Given the description of an element on the screen output the (x, y) to click on. 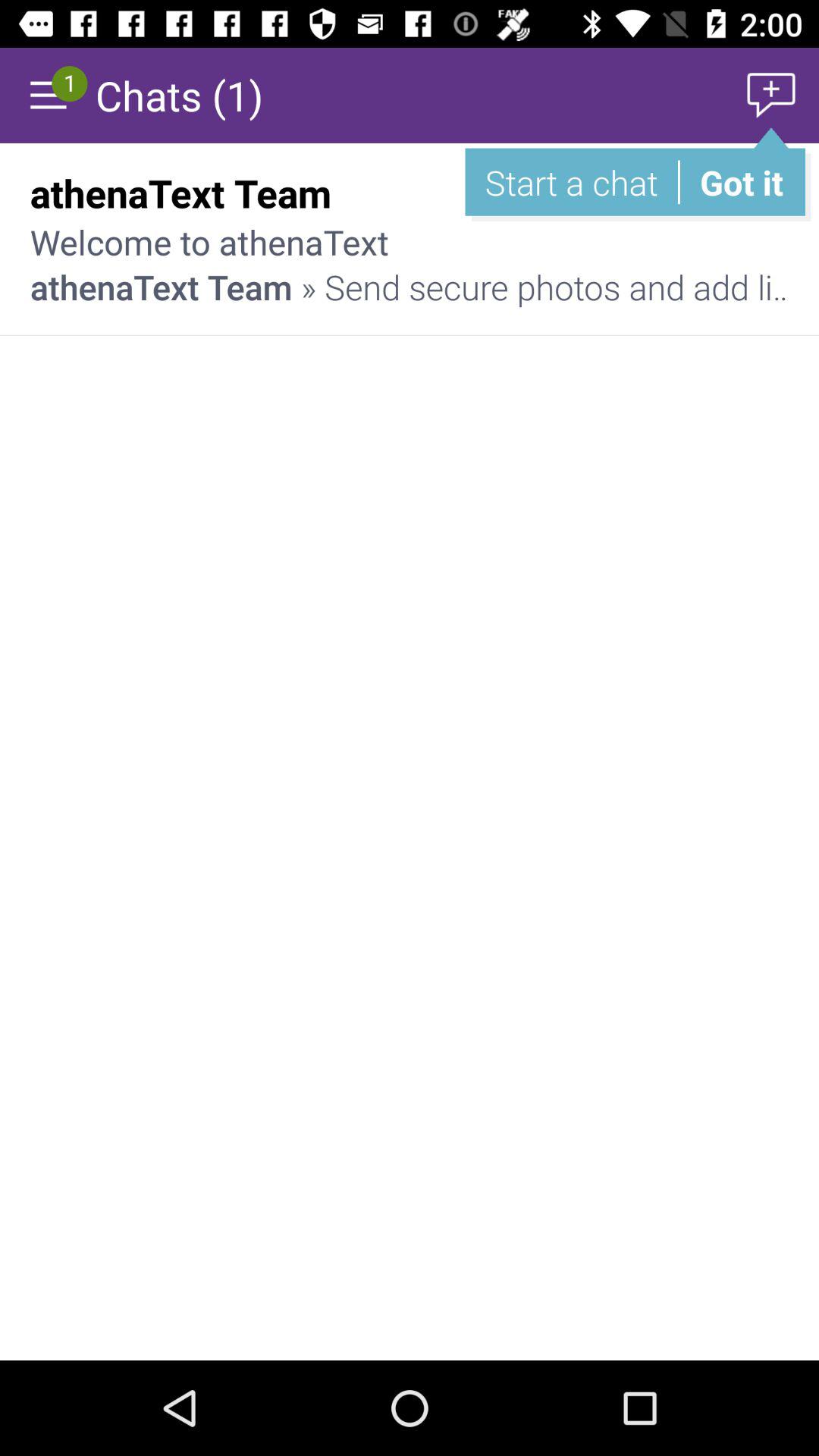
menu (47, 95)
